Given the description of an element on the screen output the (x, y) to click on. 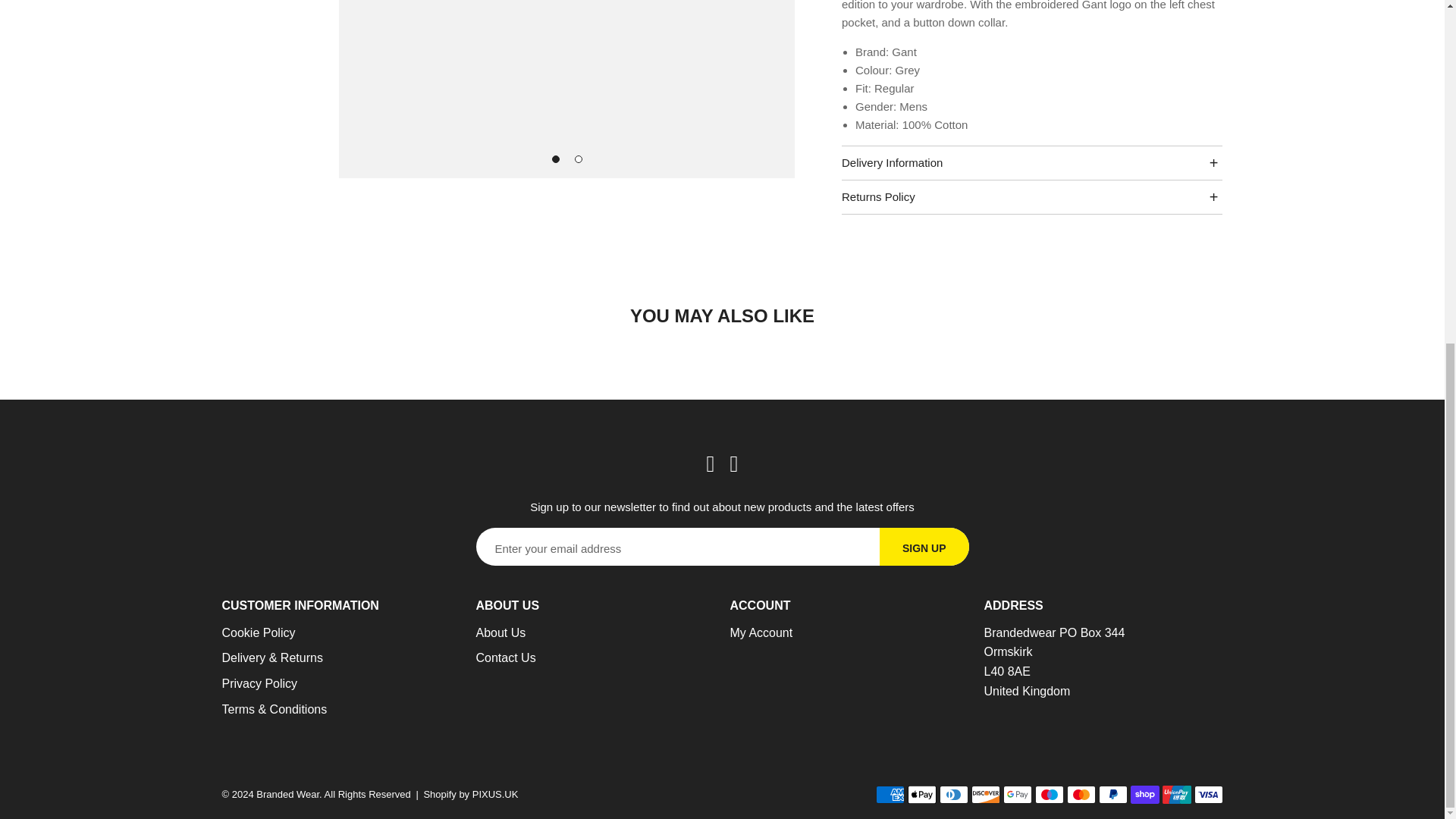
Link to Larger Image (566, 90)
